Given the description of an element on the screen output the (x, y) to click on. 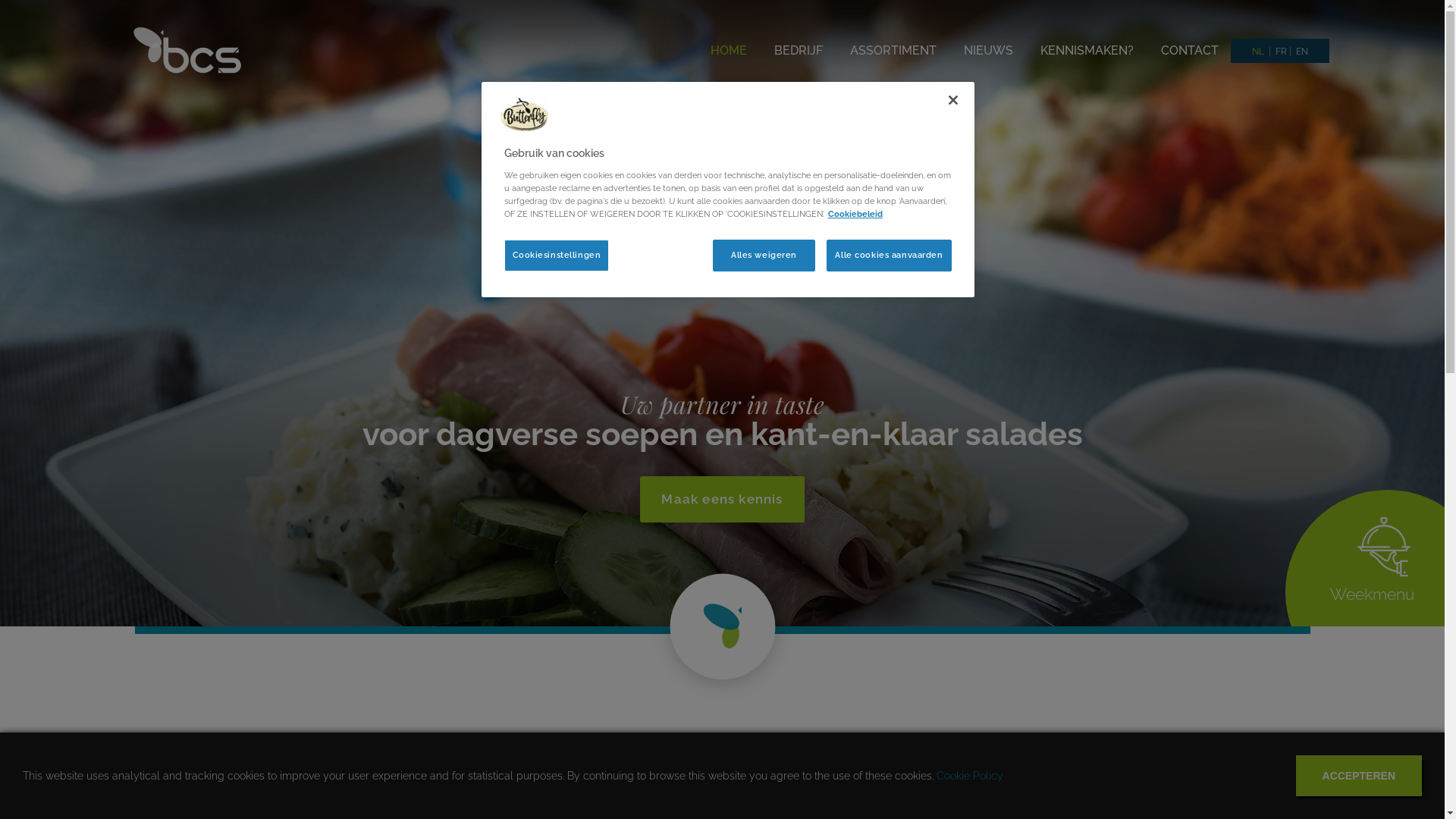
Cookiebeleid Element type: text (855, 213)
CONTACT Element type: text (1189, 50)
EN Element type: text (1301, 51)
Alles weigeren Element type: text (763, 255)
Cookiesinstellingen Element type: text (555, 255)
FR Element type: text (1280, 51)
Bedrijfslogo Element type: hover (524, 116)
Maak eens kennis Element type: text (722, 499)
HOME Element type: text (727, 50)
Cookie Policy Element type: text (969, 774)
KENNISMAKEN? Element type: text (1086, 50)
ACCEPTEREN Element type: text (1358, 775)
NIEUWS Element type: text (987, 50)
BEDRIJF Element type: text (797, 50)
Alle cookies aanvaarden Element type: text (888, 255)
NL Element type: text (1257, 51)
ASSORTIMENT Element type: text (892, 50)
